Given the description of an element on the screen output the (x, y) to click on. 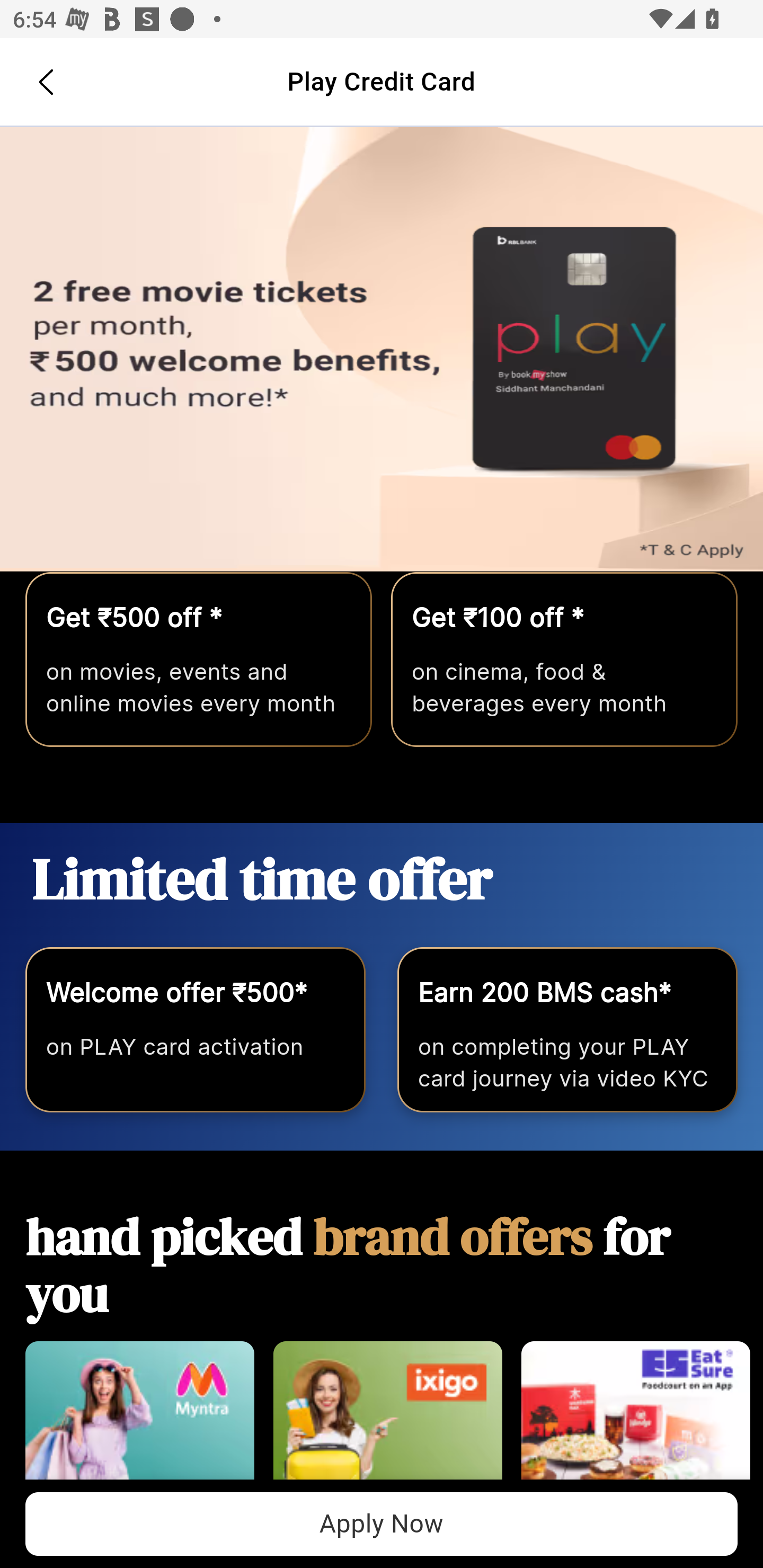
Apply Now (381, 349)
MYNTRA (139, 1419)
Ixigo (387, 1419)
EatSure (635, 1419)
Apply Now (381, 1523)
